Given the description of an element on the screen output the (x, y) to click on. 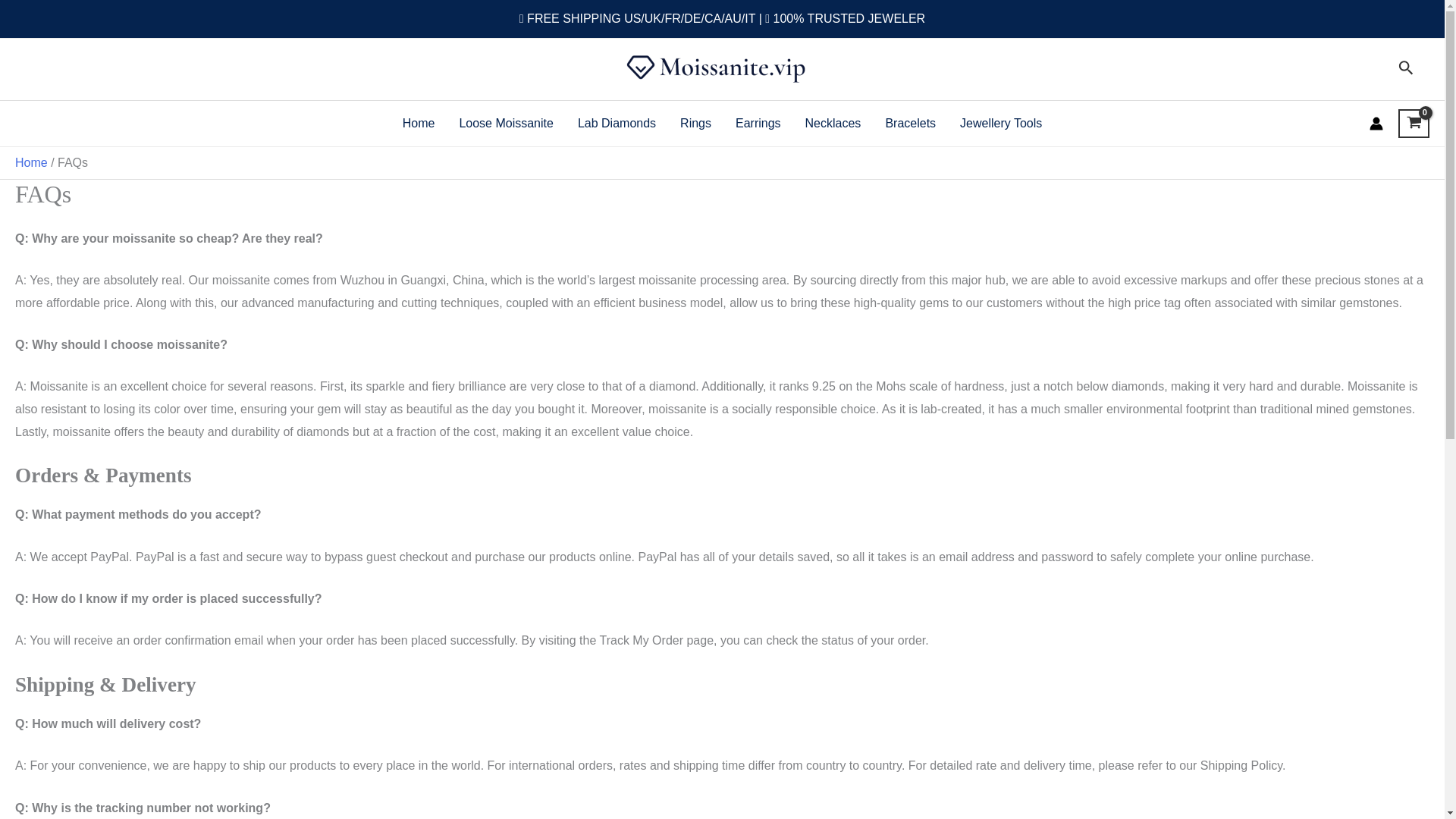
Earrings (758, 123)
Rings (695, 123)
Bracelets (909, 123)
Jewellery Tools (1000, 123)
Loose Moissanite (506, 123)
Necklaces (833, 123)
Lab Diamonds (617, 123)
Home (418, 123)
Home (31, 162)
